Given the description of an element on the screen output the (x, y) to click on. 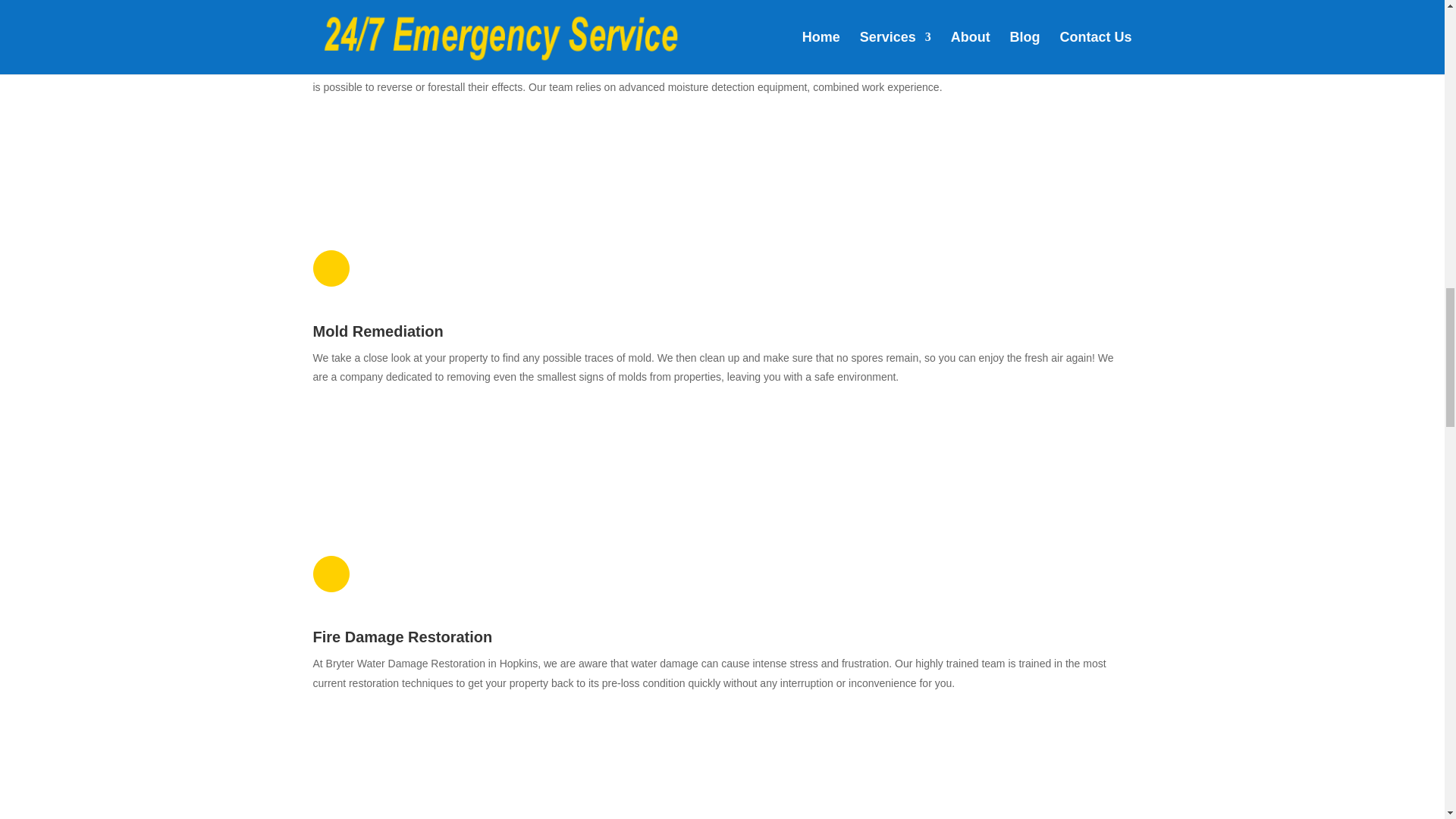
Storm Surge Flooding Wilmington NC (426, 450)
Hurricane Damage Repair Wilmington NC (426, 173)
Mold Inspection Wilmington NC (426, 755)
